Given the description of an element on the screen output the (x, y) to click on. 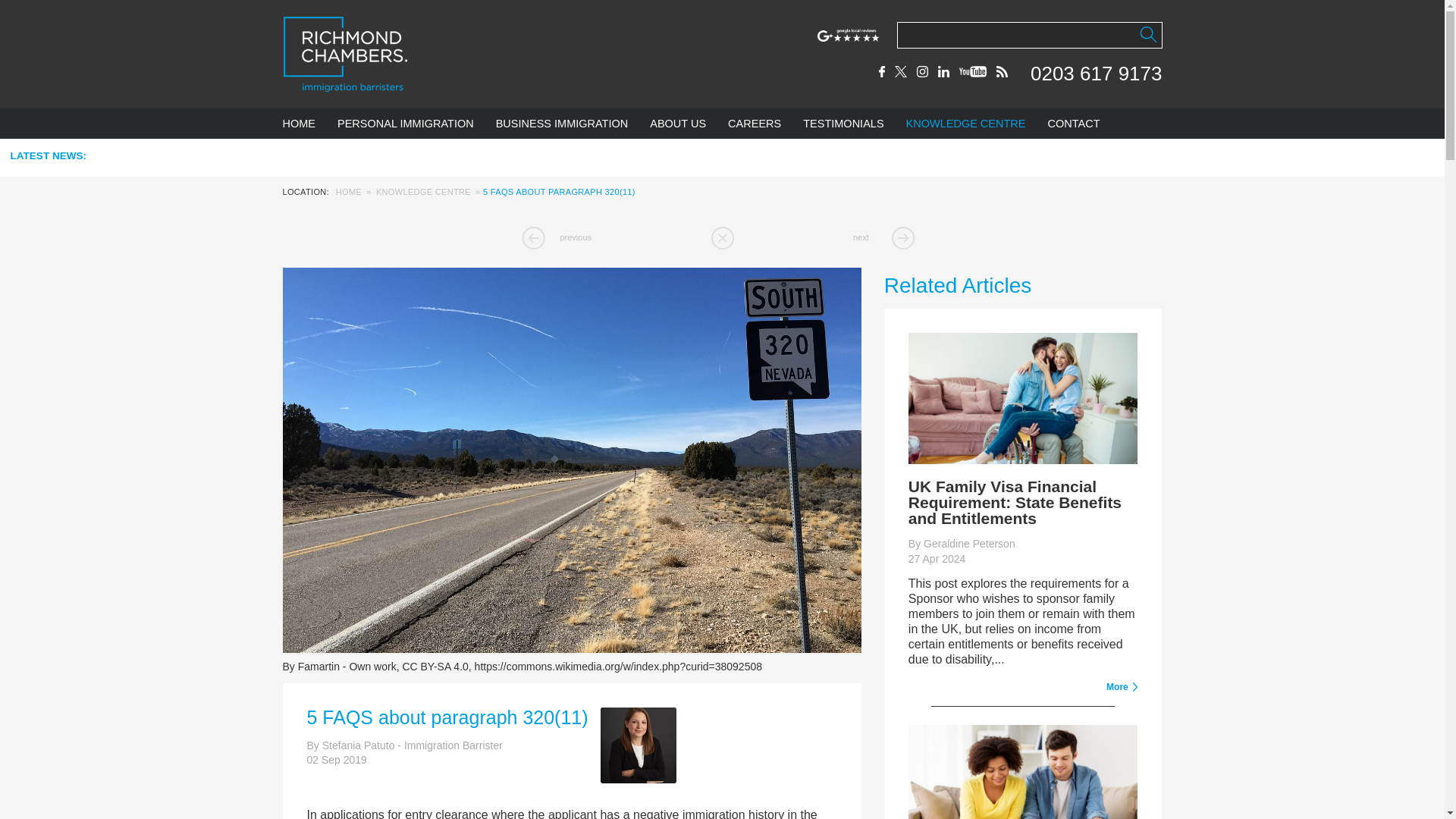
Previous (553, 237)
Next (890, 237)
Back (722, 237)
